Given the description of an element on the screen output the (x, y) to click on. 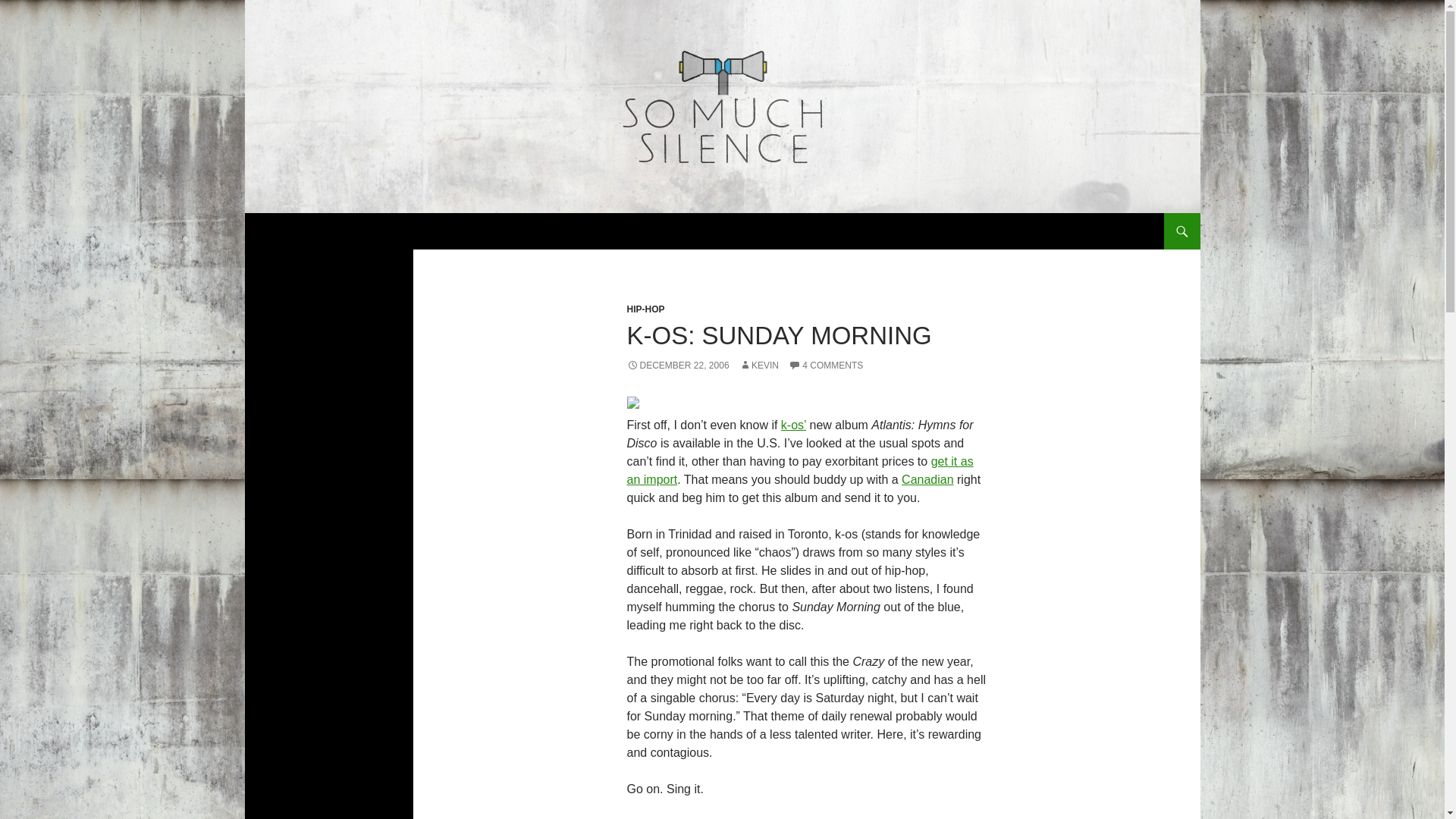
Canadian (927, 479)
KEVIN (758, 365)
HIP-HOP (644, 308)
get it as an import (799, 470)
4 COMMENTS (826, 365)
DECEMBER 22, 2006 (677, 365)
So Much Silence (320, 230)
